Given the description of an element on the screen output the (x, y) to click on. 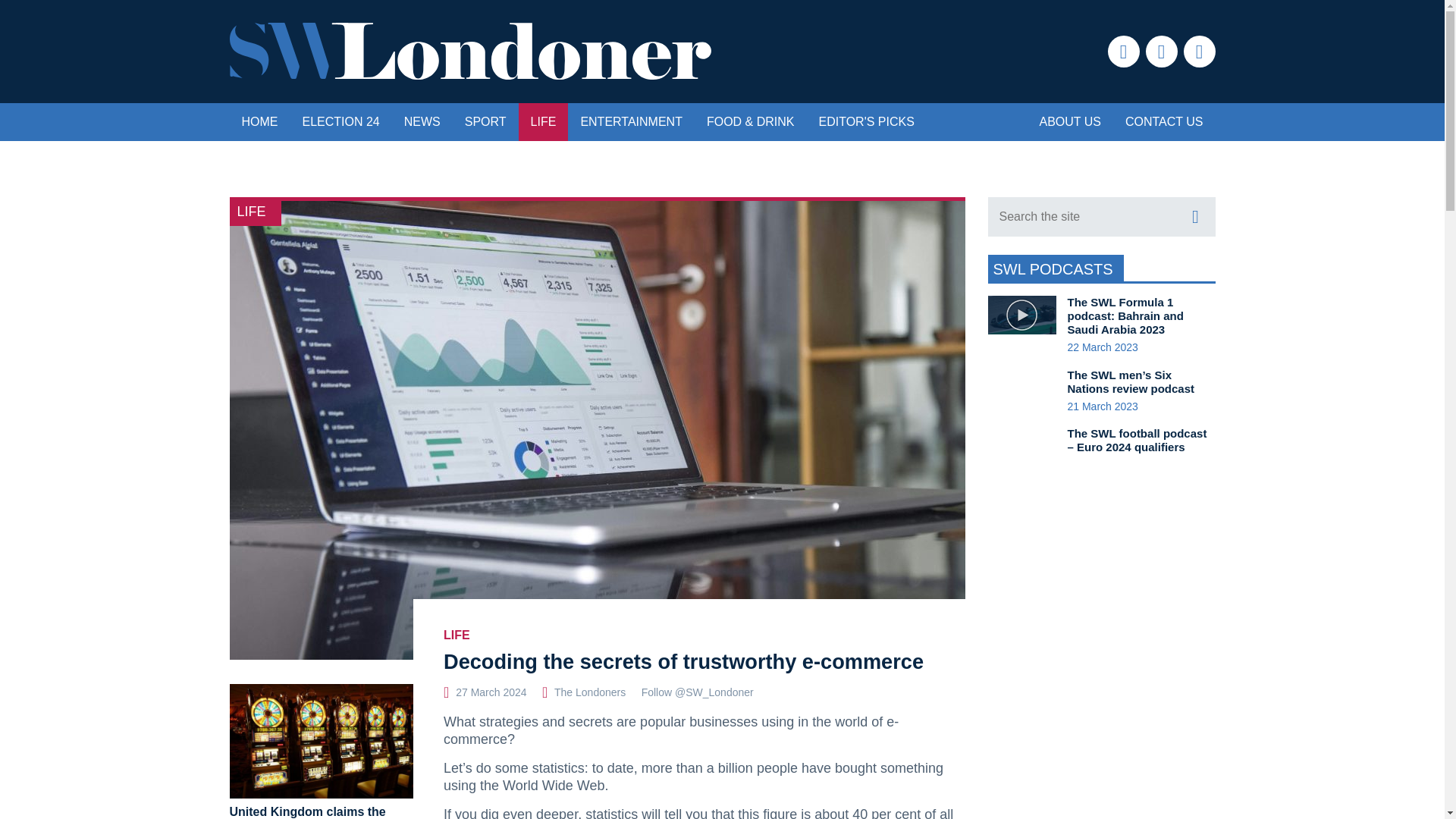
NEWS (421, 121)
Life (543, 121)
Contact us (1164, 121)
HOME (258, 121)
About us (1069, 121)
ELECTION 24 (340, 121)
Entertainment (630, 121)
LIFE (457, 634)
SPORT (485, 121)
Editor's Picks (866, 121)
The Londoners (590, 692)
ENTERTAINMENT (630, 121)
ABOUT US (1069, 121)
Twitter (1198, 51)
Facebook (1122, 51)
